Given the description of an element on the screen output the (x, y) to click on. 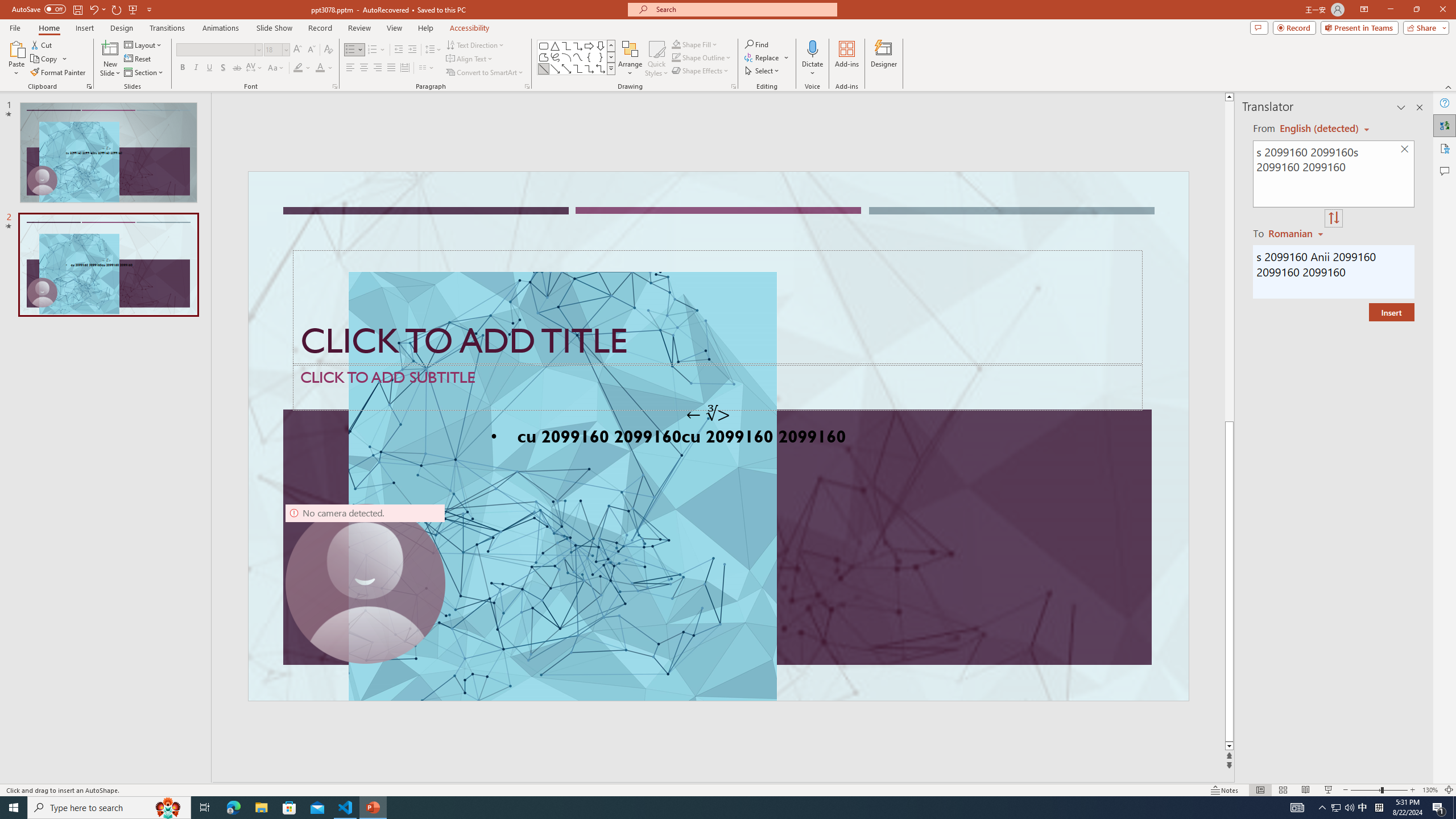
Line Arrow: Double (566, 68)
Clear text (1404, 149)
